Given the description of an element on the screen output the (x, y) to click on. 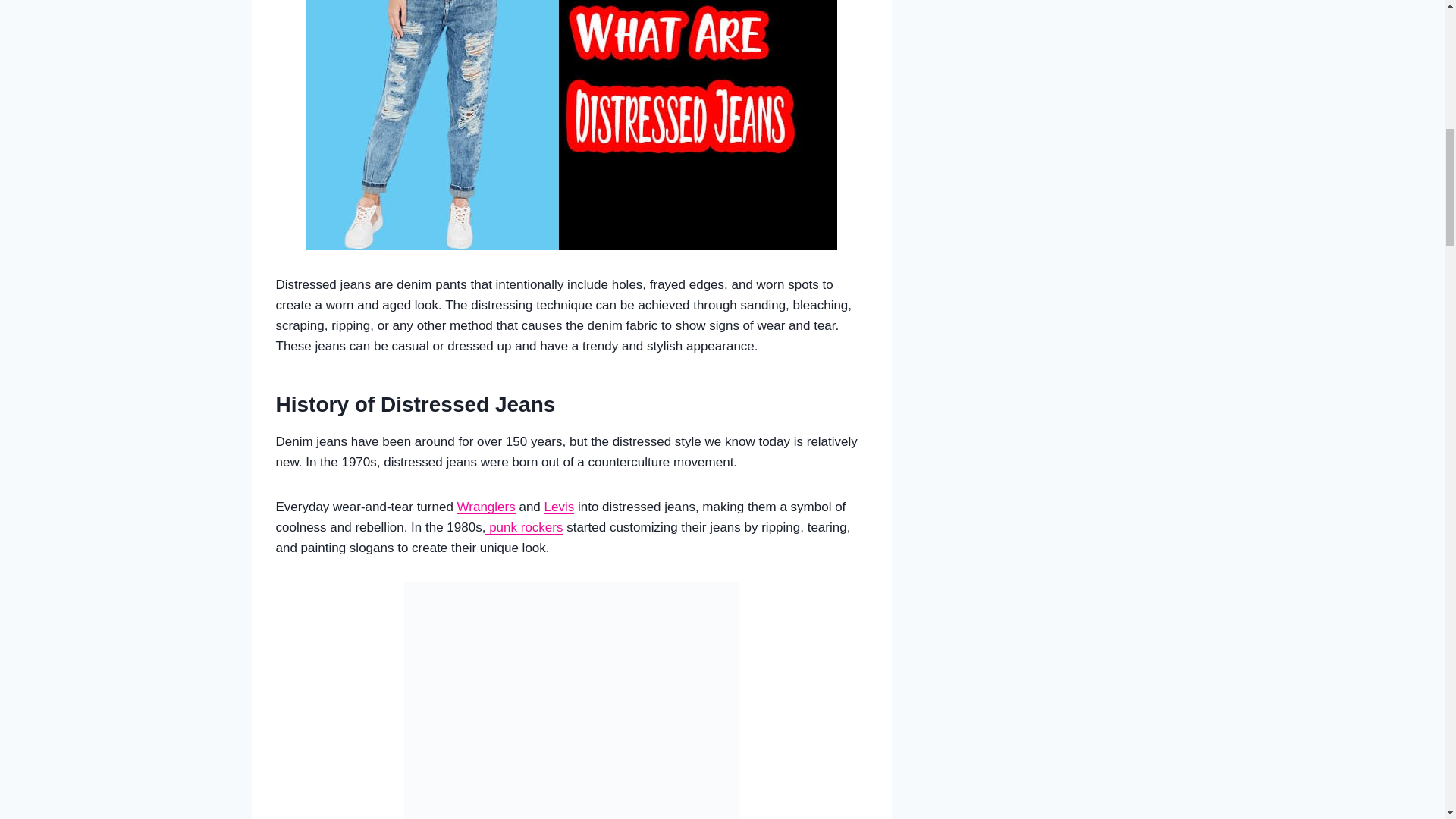
Wranglers (486, 506)
punk rockers (523, 527)
Levis (559, 506)
